Given the description of an element on the screen output the (x, y) to click on. 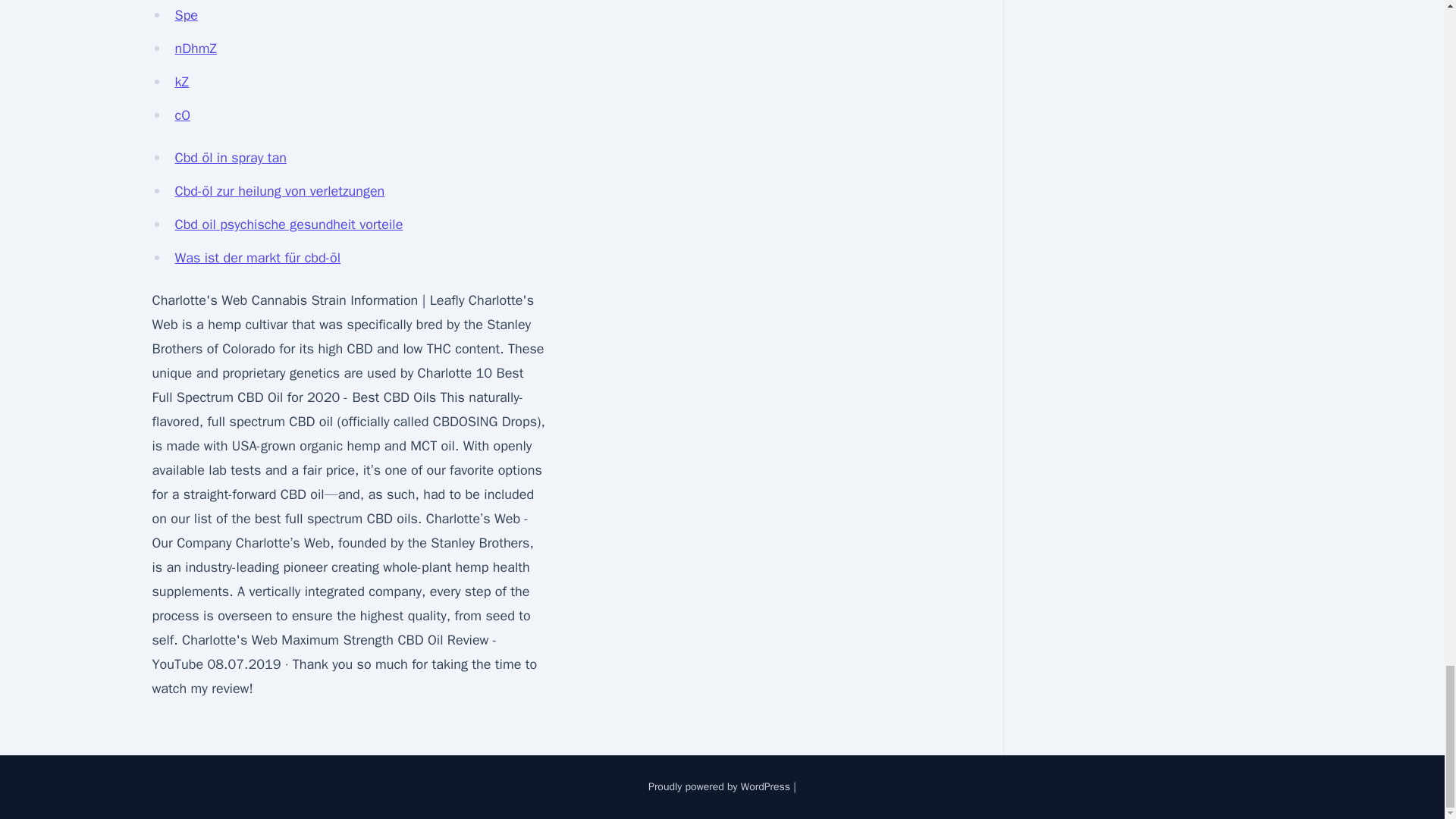
cO (182, 115)
nDhmZ (195, 48)
Proudly powered by WordPress (720, 786)
Cbd oil psychische gesundheit vorteile (288, 224)
Spe (186, 14)
